Given the description of an element on the screen output the (x, y) to click on. 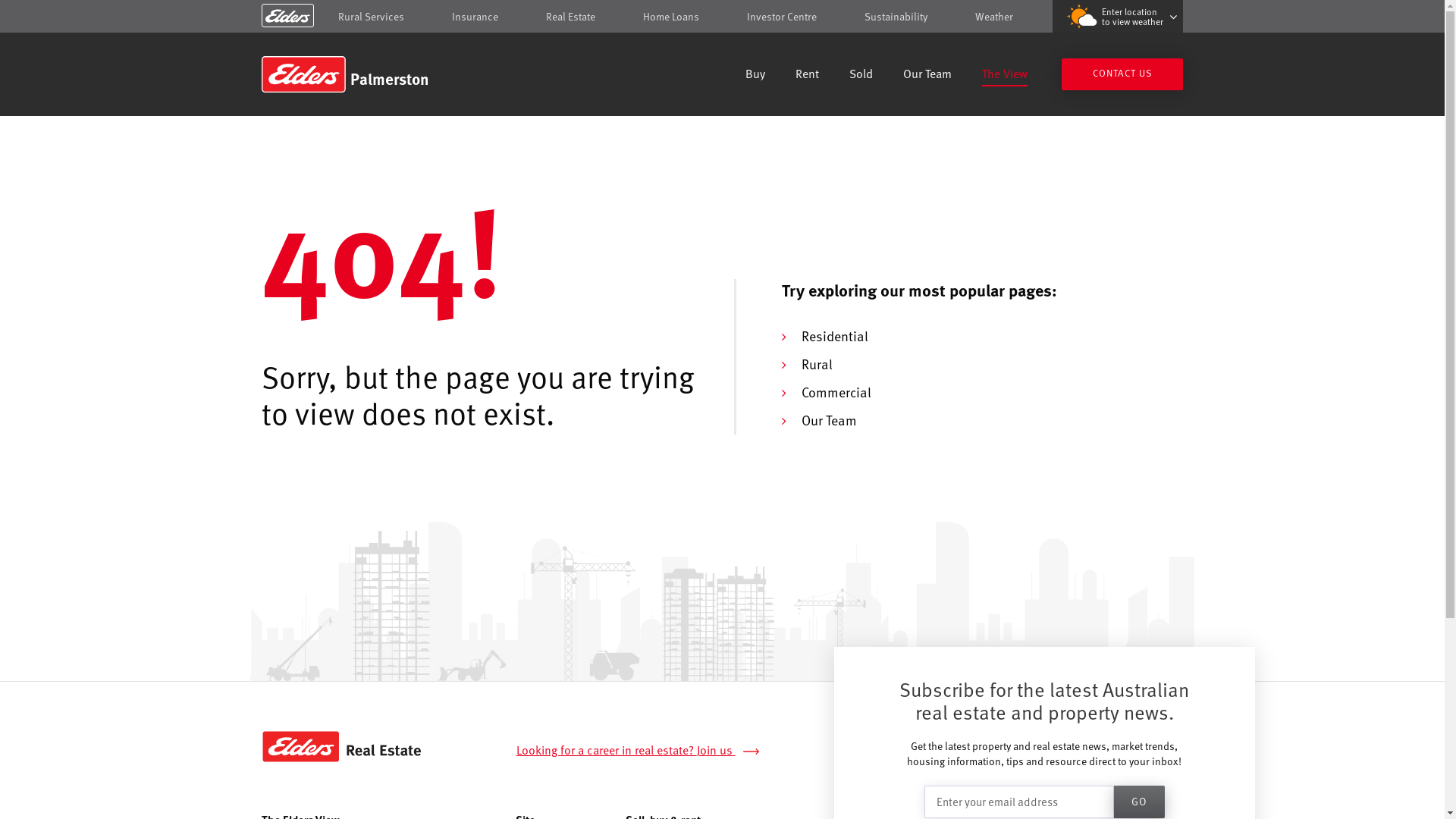
Skip to content Element type: text (722, 17)
Investor Centre Element type: text (781, 16)
Residential Element type: text (833, 335)
Rural Services Element type: text (371, 16)
Go Element type: text (1138, 801)
Rural Element type: text (815, 363)
Our Team Element type: text (828, 419)
Insurance Element type: text (474, 16)
Commercial Element type: text (835, 391)
Rent Element type: text (807, 75)
Sustainability Element type: text (895, 16)
Weather Element type: text (994, 16)
Real Estate Element type: text (570, 16)
Home Loans Element type: text (671, 16)
The View Element type: text (1004, 75)
Palmerston Element type: text (369, 74)
CONTACT US Element type: text (1122, 74)
Enter location to view weather Element type: text (1117, 16)
Buy Element type: text (755, 75)
Looking for a career in real estate? Join us Element type: text (645, 750)
Sold Element type: text (860, 75)
Our Team Element type: text (927, 75)
